Given the description of an element on the screen output the (x, y) to click on. 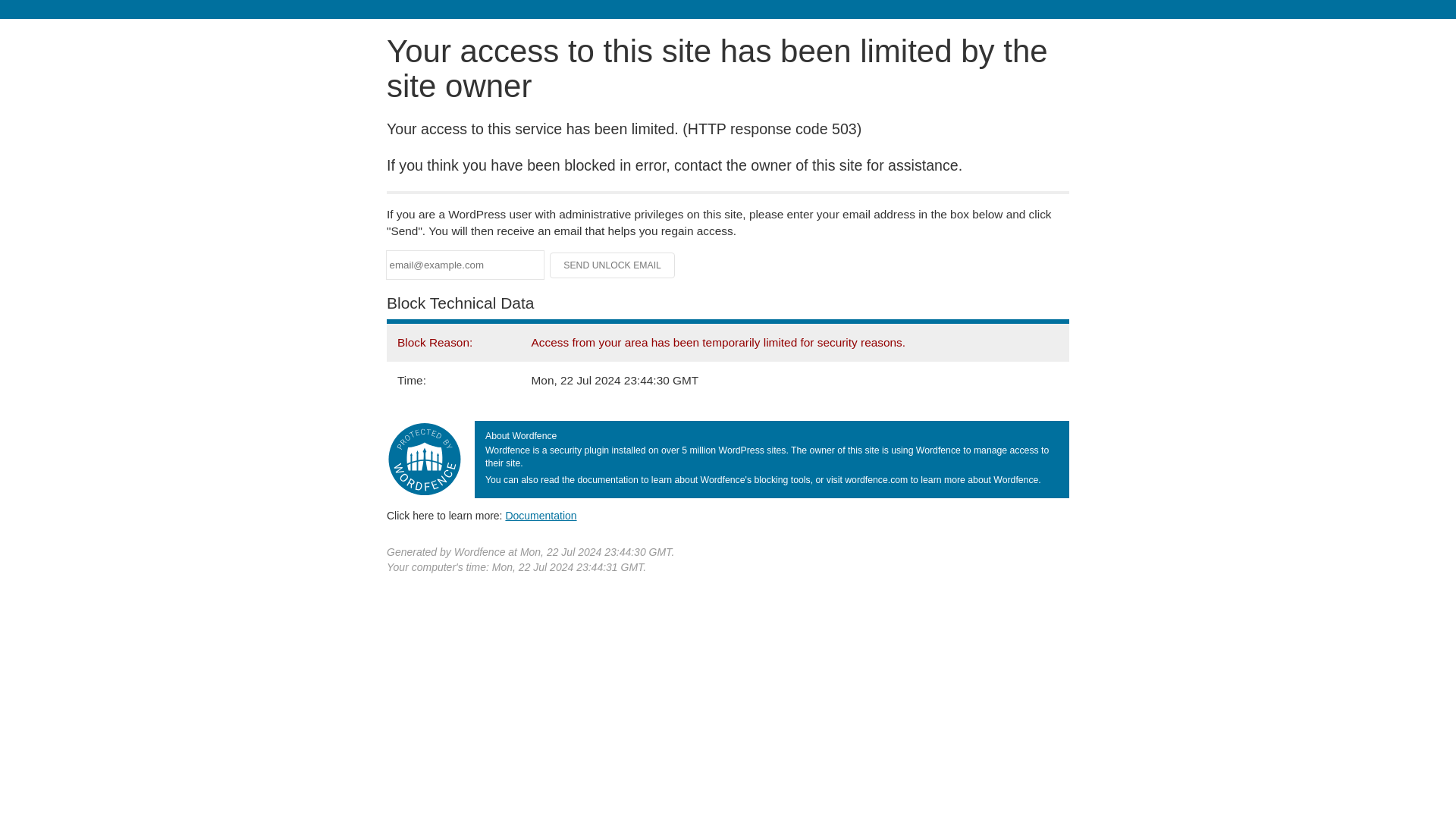
Send Unlock Email (612, 265)
Documentation (540, 515)
Send Unlock Email (612, 265)
